Given the description of an element on the screen output the (x, y) to click on. 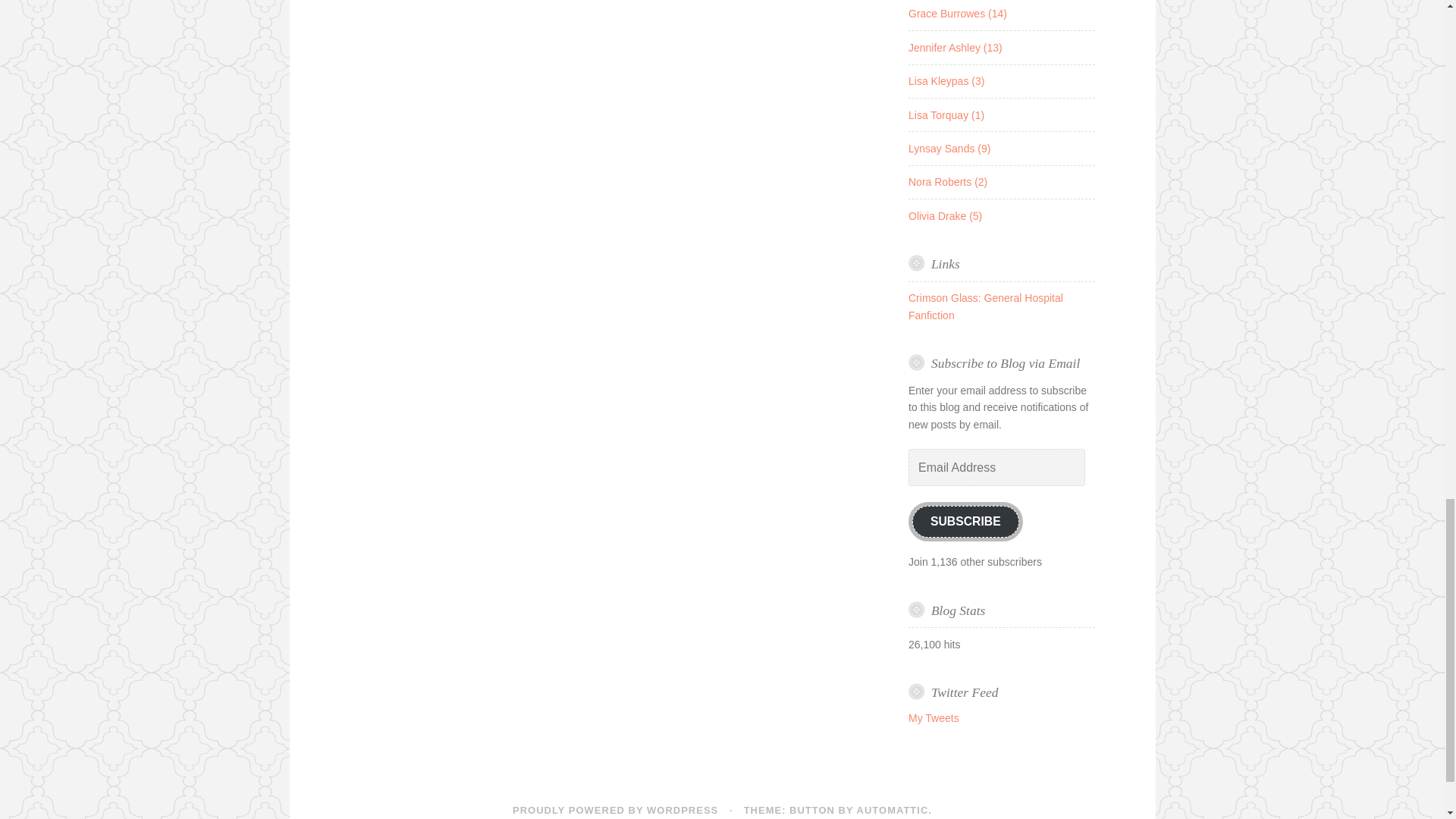
SUBSCRIBE (965, 522)
PROUDLY POWERED BY WORDPRESS (614, 809)
Crimson Glass: General Hospital Fanfiction (985, 306)
My Tweets (933, 717)
